Given the description of an element on the screen output the (x, y) to click on. 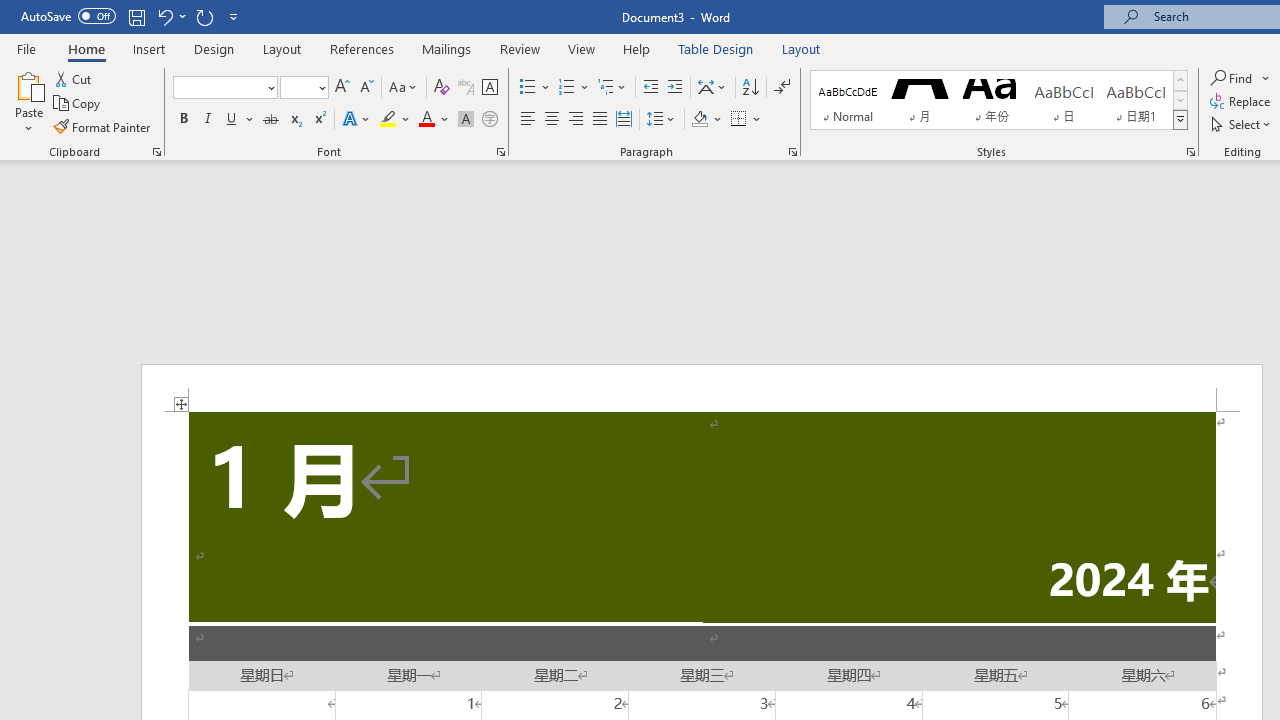
Shrink Font (365, 87)
Table Design (715, 48)
Shading RGB(0, 0, 0) (699, 119)
Enclose Characters... (489, 119)
Asian Layout (712, 87)
Repeat Doc Close (204, 15)
